Given the description of an element on the screen output the (x, y) to click on. 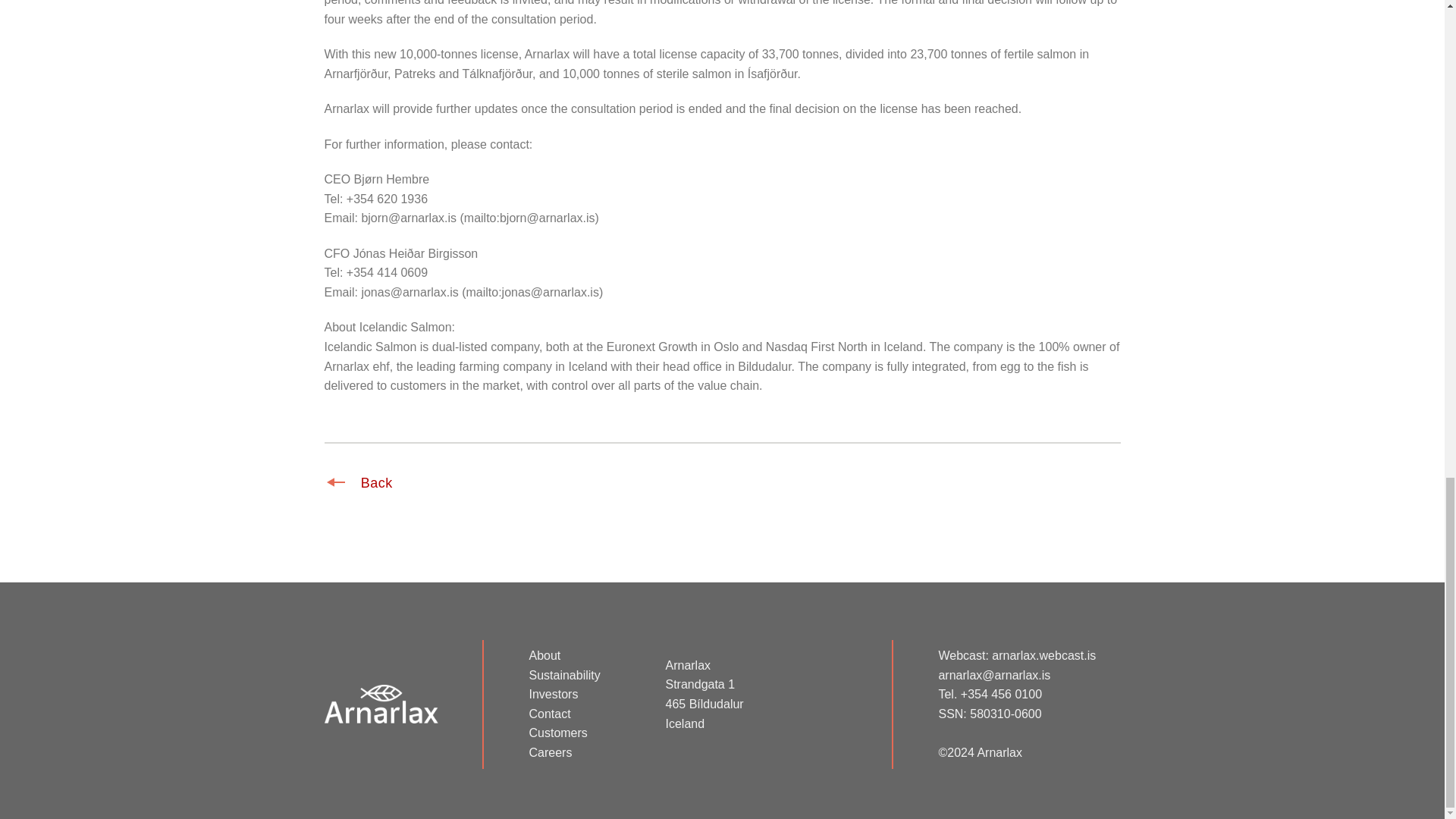
arnarlax.webcast.is (1043, 655)
Contact (549, 713)
Customers (557, 732)
Back (360, 483)
About (544, 655)
Careers (550, 752)
Sustainability (563, 675)
Investors (553, 694)
